Given the description of an element on the screen output the (x, y) to click on. 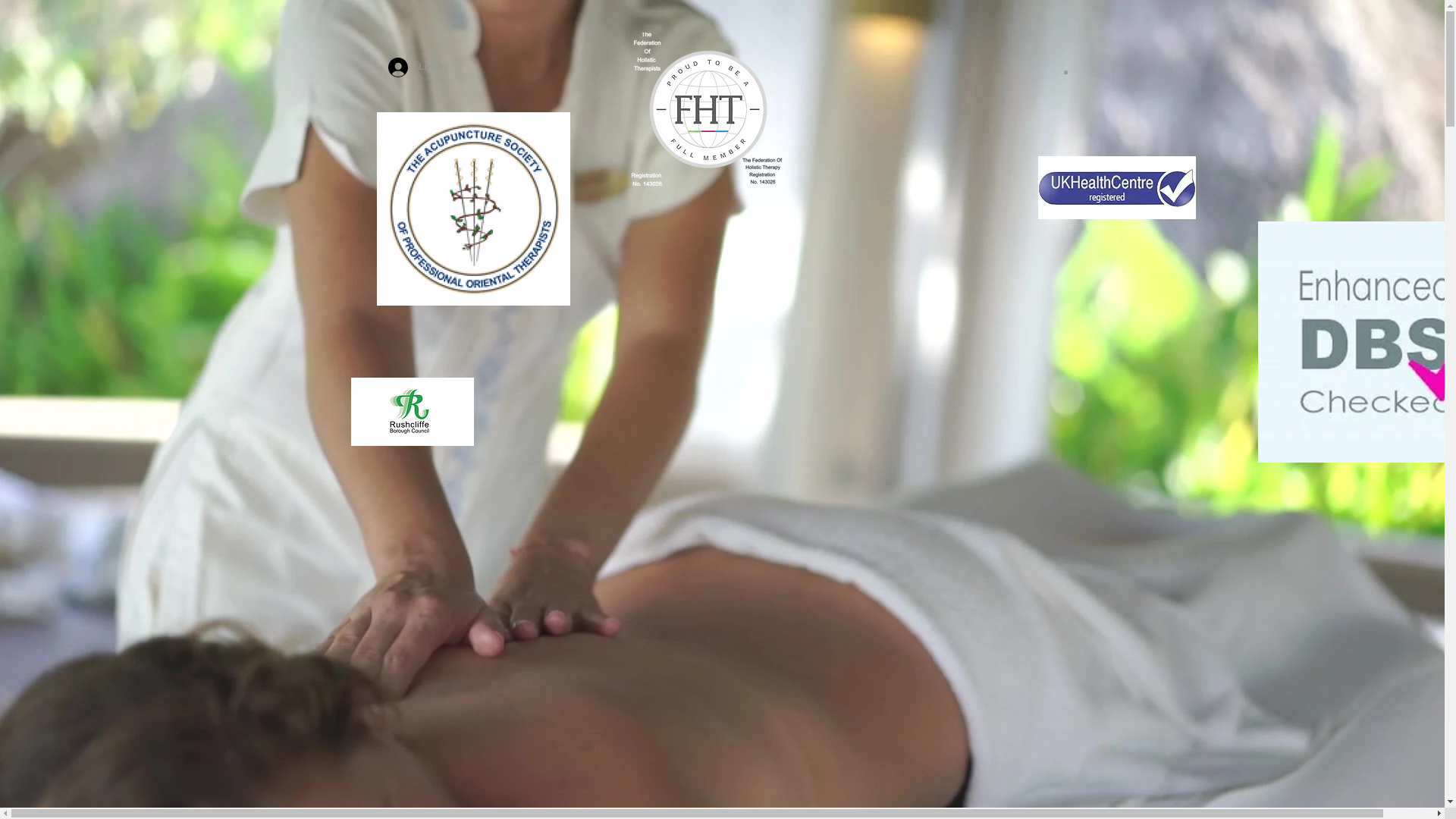
Log In (417, 67)
rushcliffe logo.png (411, 411)
uk health centre.jpg (1115, 187)
acu society.png (472, 208)
